Given the description of an element on the screen output the (x, y) to click on. 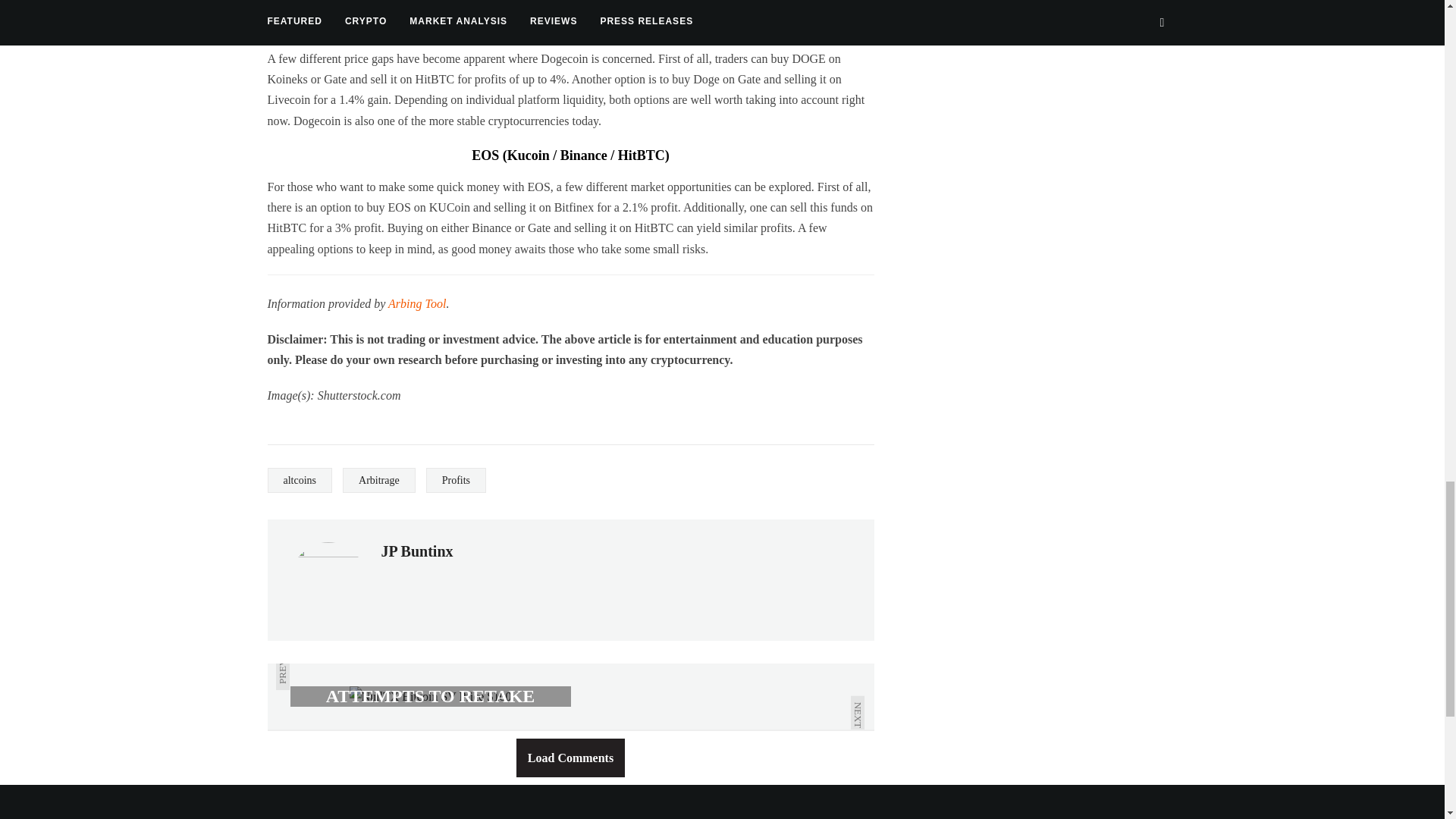
Posts by JP Buntinx (416, 550)
Load Comments (570, 757)
JP Buntinx (416, 550)
Arbitrage (378, 480)
Arbing Tool (416, 303)
Profits (456, 480)
altcoins (298, 480)
